Given the description of an element on the screen output the (x, y) to click on. 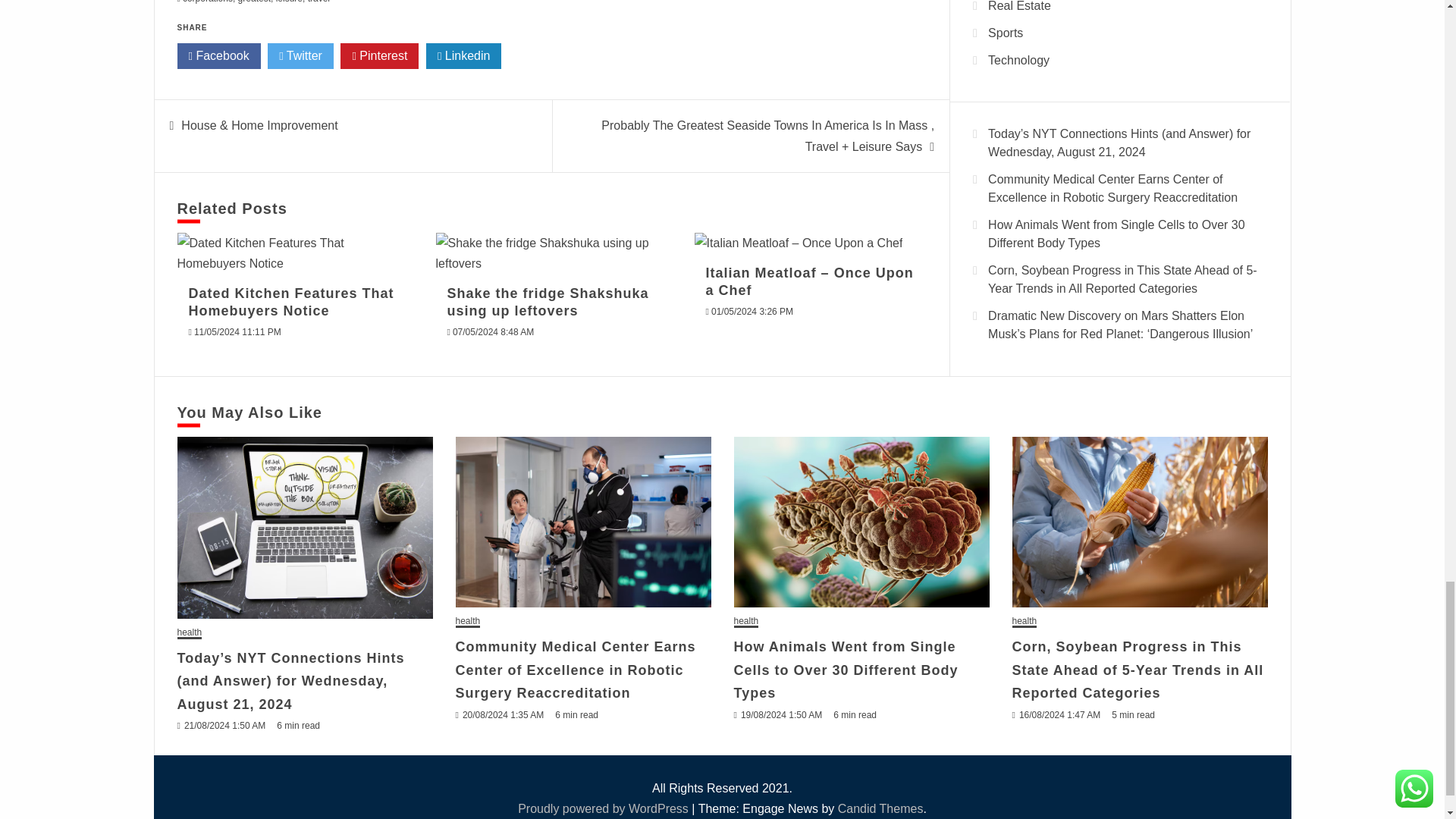
Shake the fridge Shakshuka using up leftovers (551, 252)
greatest (254, 2)
Dated Kitchen Features That Homebuyers Notice (293, 252)
corporations (207, 2)
travel (318, 2)
leisure (289, 2)
